Given the description of an element on the screen output the (x, y) to click on. 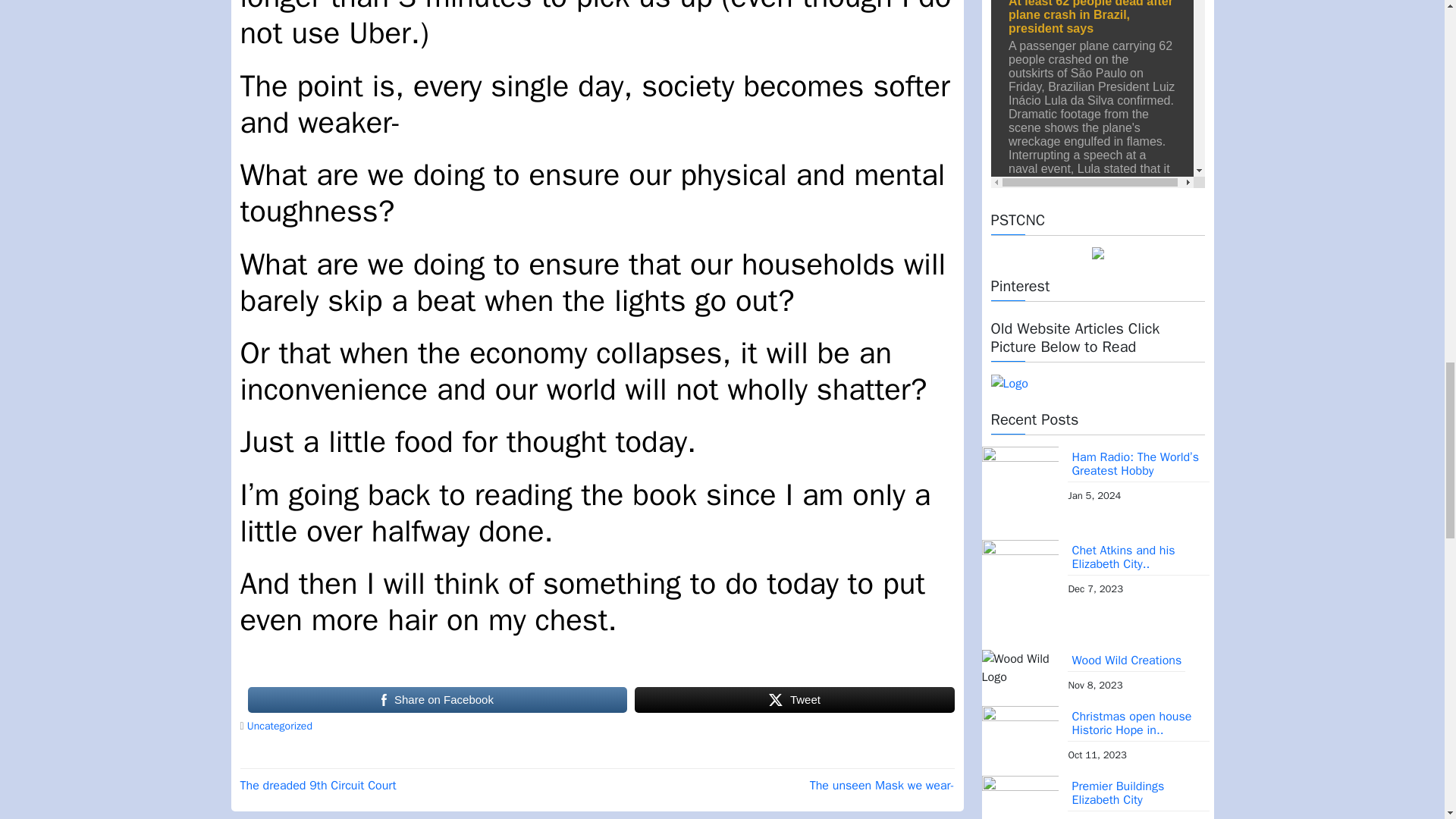
Share on Facebook (437, 699)
Premier Buildings Elizabeth City (1138, 793)
Tweet (793, 699)
Wood Wild Creations (1126, 660)
Chet Atkins and his Elizabeth City.. (1138, 557)
News (1097, 94)
The unseen Mask we wear- (882, 785)
Christmas open house Historic Hope in.. (1138, 723)
The dreaded 9th Circuit Court (318, 785)
Uncategorized (280, 725)
